Given the description of an element on the screen output the (x, y) to click on. 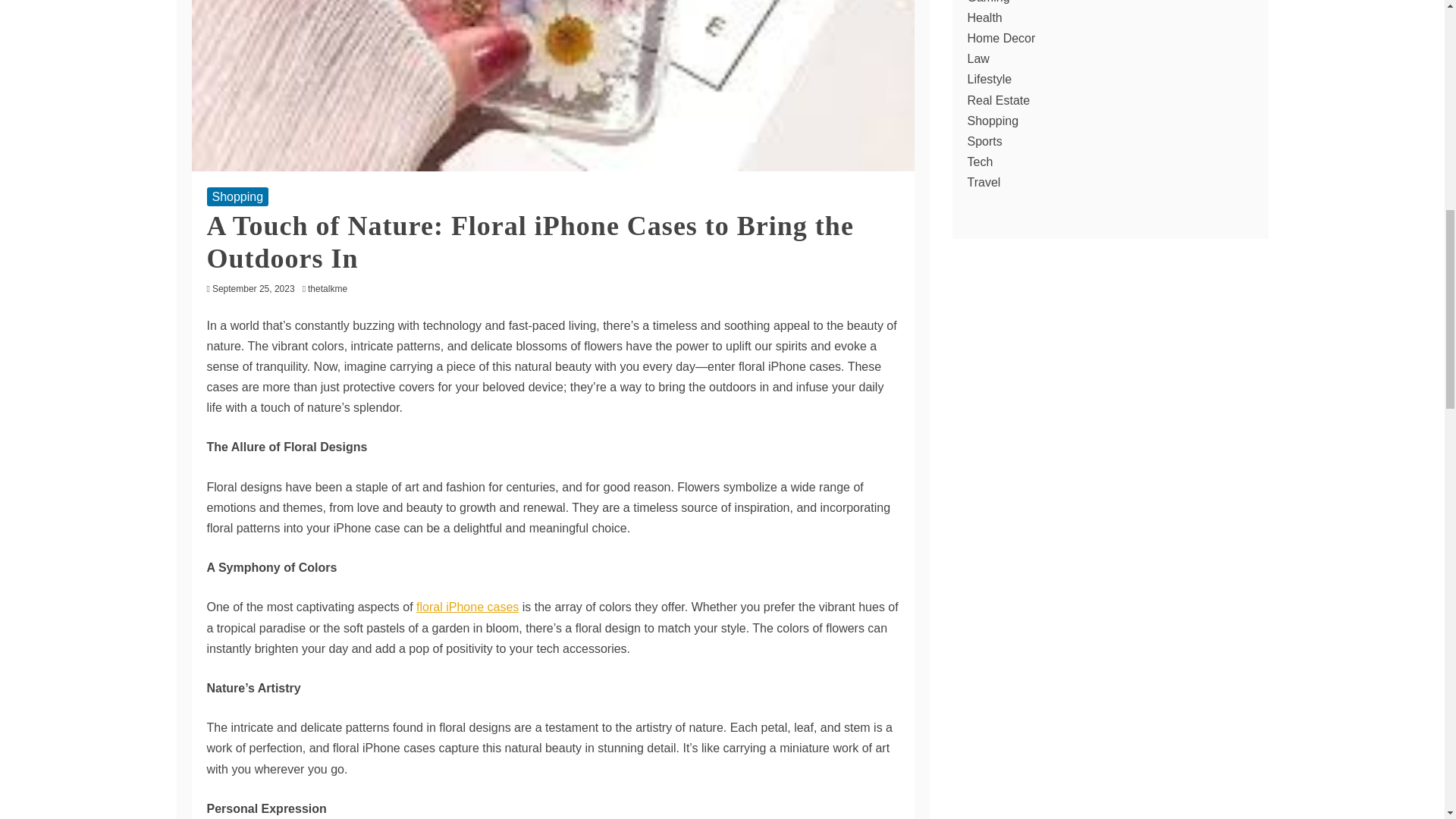
floral iPhone cases (467, 606)
thetalkme (331, 288)
Shopping (236, 196)
September 25, 2023 (253, 288)
